Given the description of an element on the screen output the (x, y) to click on. 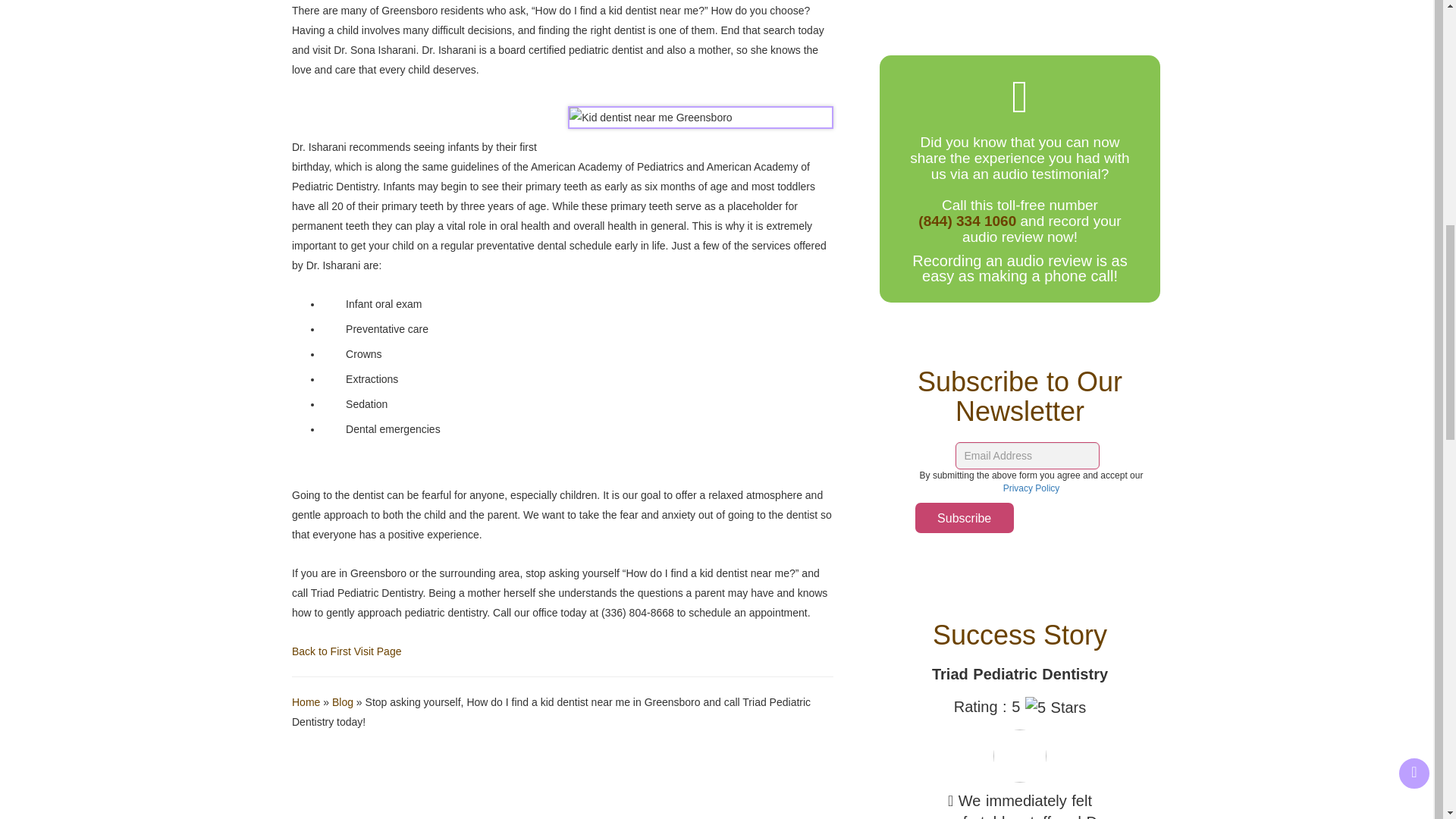
Subscribe (964, 517)
